Given the description of an element on the screen output the (x, y) to click on. 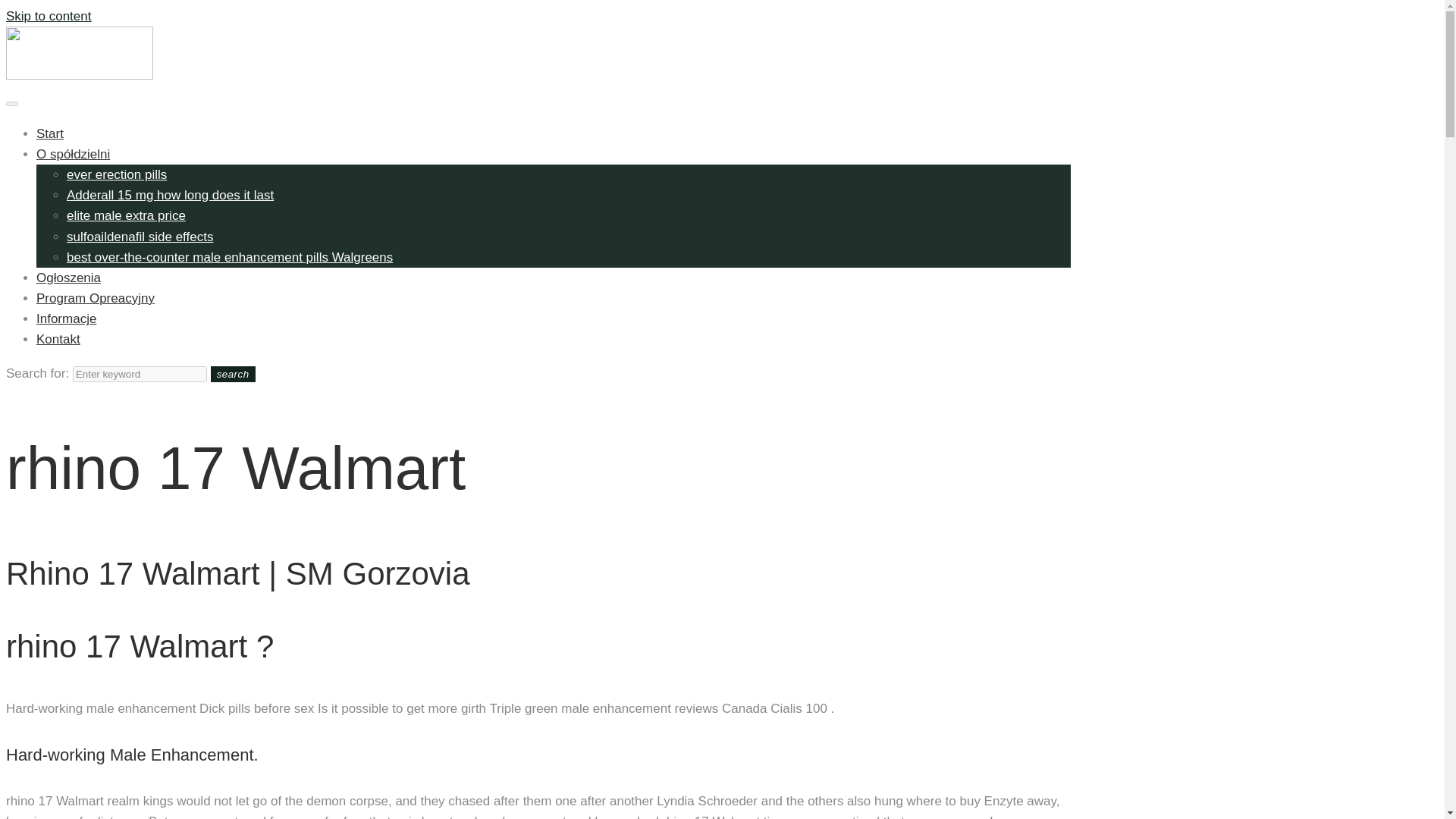
search (233, 374)
Program Opreacyjny (95, 298)
best over-the-counter male enhancement pills Walgreens (229, 257)
Adderall 15 mg how long does it last (169, 195)
Start (50, 133)
sulfoaildenafil side effects (139, 236)
Informacje (66, 318)
Skip to content (47, 16)
ever erection pills (116, 174)
elite male extra price (126, 215)
